Given the description of an element on the screen output the (x, y) to click on. 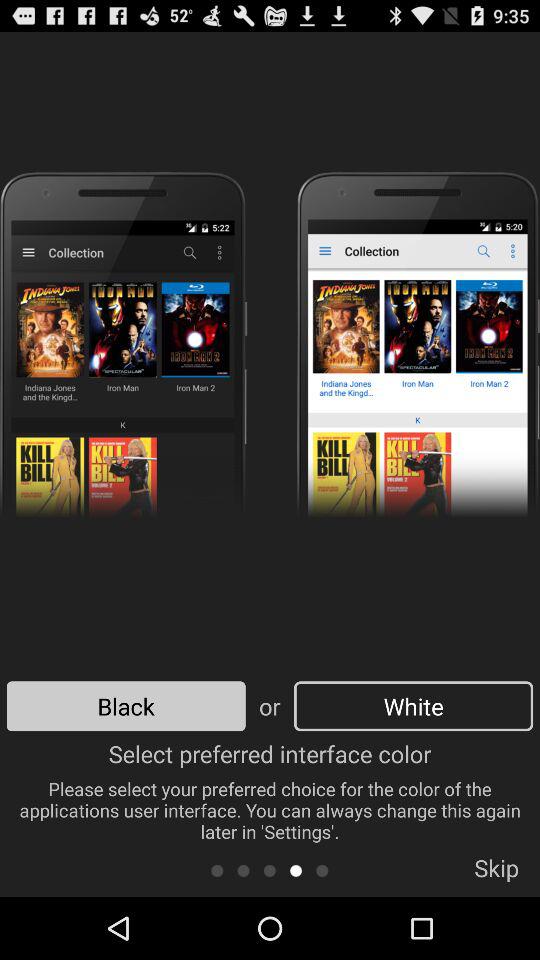
previous slide (269, 870)
